Given the description of an element on the screen output the (x, y) to click on. 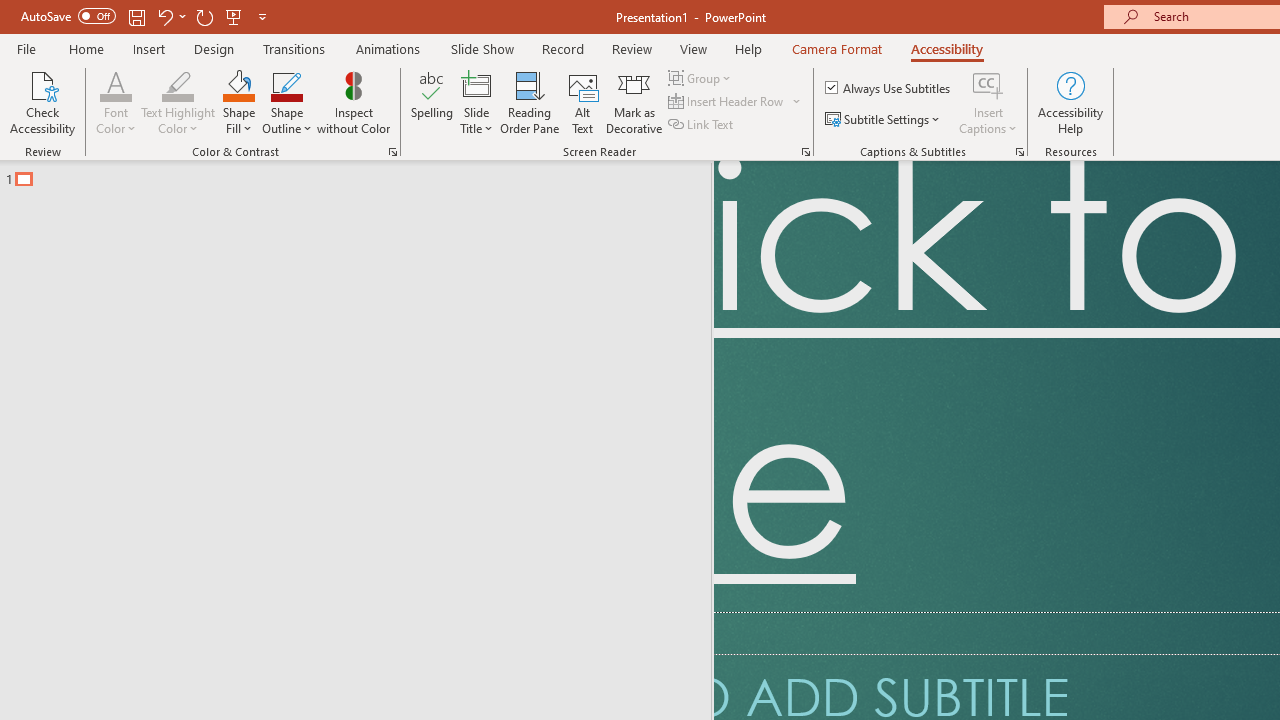
Subtitle Settings (884, 119)
Shape Outline Blue, Accent 1 (286, 84)
Link Text (702, 124)
Slide Title (476, 84)
Check Accessibility (42, 102)
Insert Header Row (727, 101)
Camera Format (836, 48)
